Given the description of an element on the screen output the (x, y) to click on. 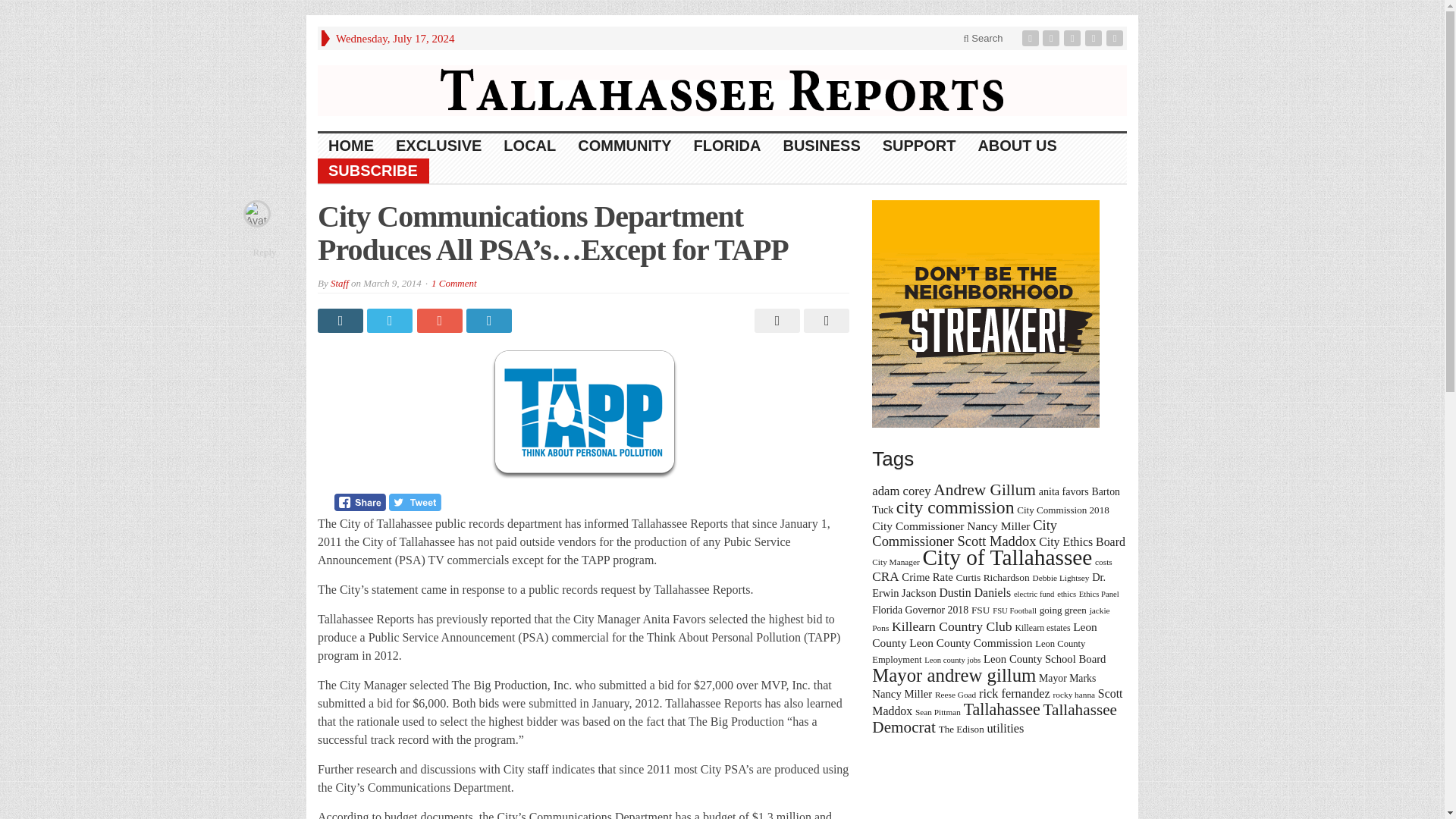
Twitter (1052, 37)
Search (982, 37)
EXCLUSIVE (439, 145)
COMMUNITY (624, 145)
LOCAL (530, 145)
Youtube (1094, 37)
SUBSCRIBE (373, 170)
Online News (721, 90)
SUPPORT (920, 145)
HOME (351, 145)
Site feed (1115, 37)
Facebook (1032, 37)
ABOUT US (1016, 145)
BUSINESS (820, 145)
FLORIDA (727, 145)
